Given the description of an element on the screen output the (x, y) to click on. 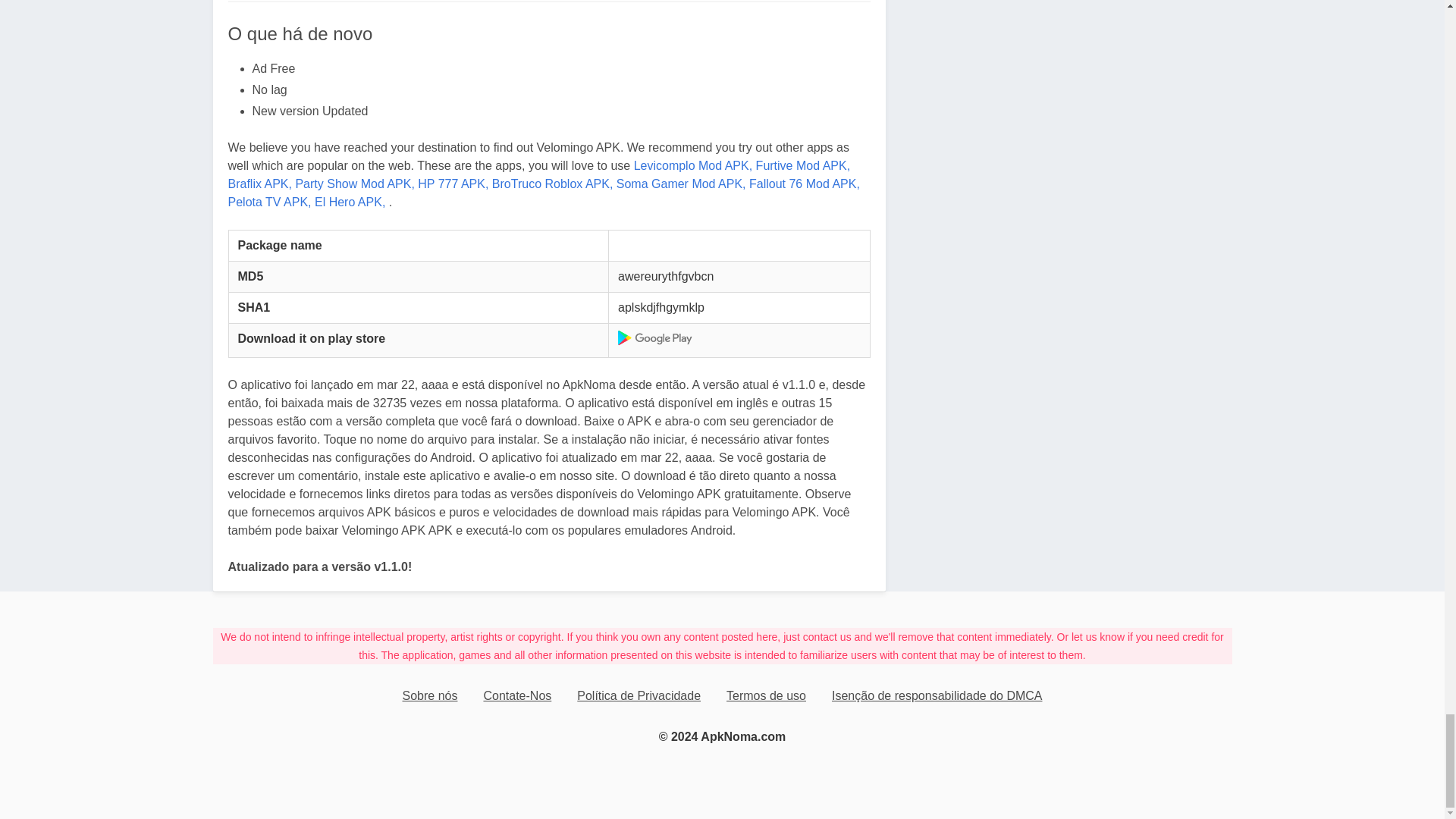
Pelota TV APK APK (269, 201)
Download Velomingo From Play Store (655, 337)
El Hero APK APK (349, 201)
Furtive Mod APK APK (802, 164)
Braflix APK APK (259, 183)
BroTruco Roblox APK APK (552, 183)
Soma Gamer Mod APK APK (680, 183)
Levicomplo Mod APK APK (692, 164)
Fallout 76 Mod APK APK (804, 183)
HP 777 APK APK (452, 183)
